Given the description of an element on the screen output the (x, y) to click on. 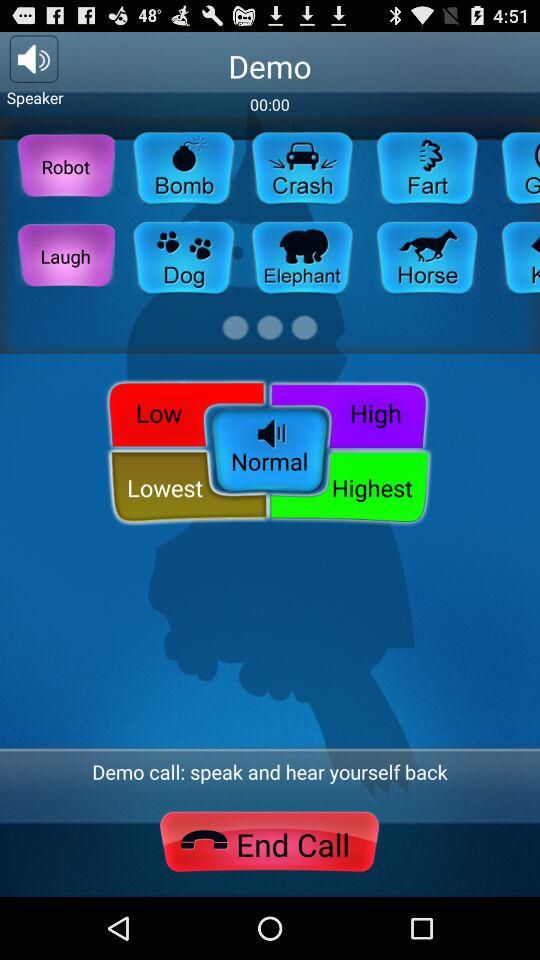
select laugh item (65, 256)
